Given the description of an element on the screen output the (x, y) to click on. 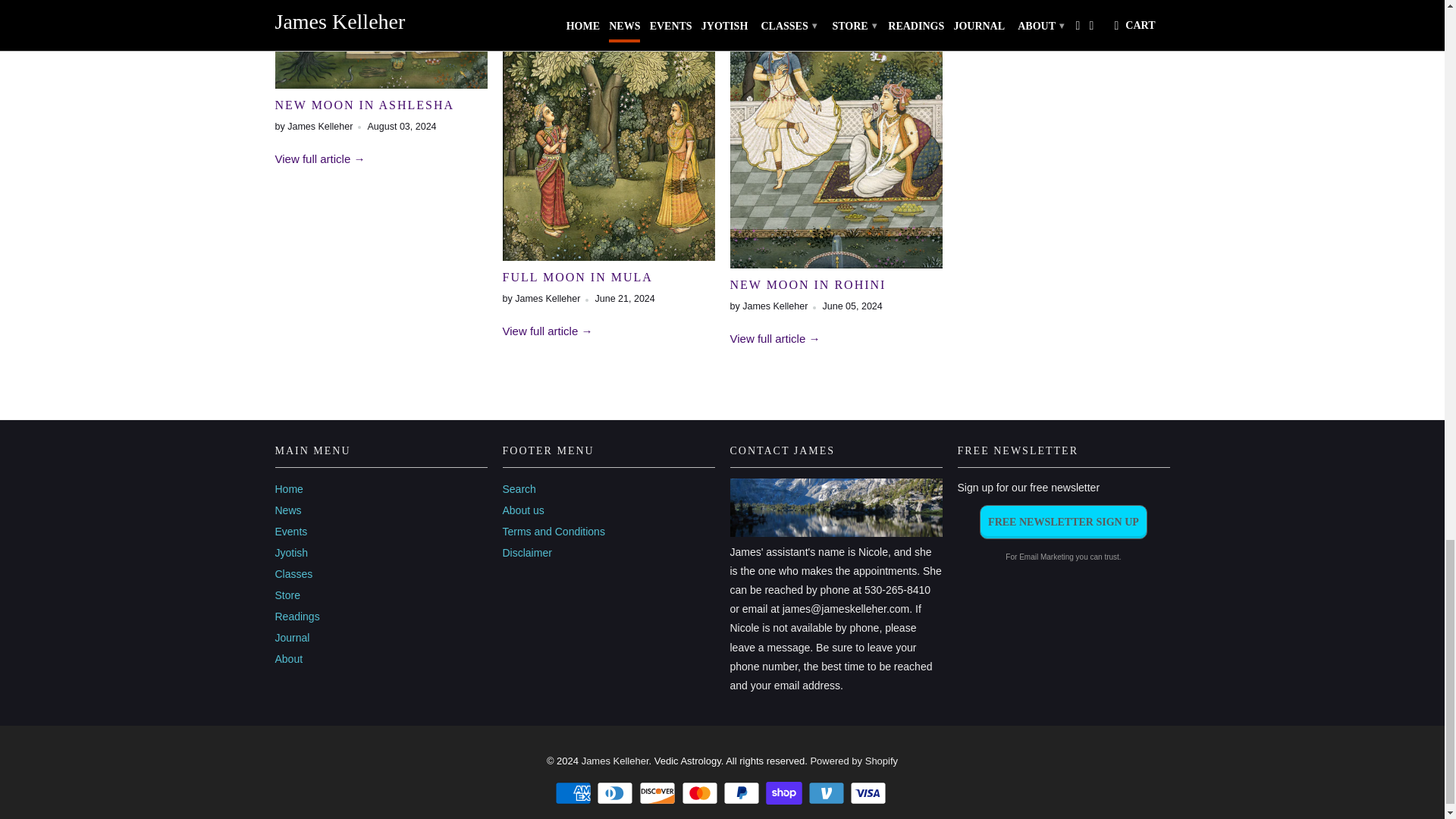
New Moon in Rohini (807, 284)
New Moon in Ashlesha (320, 158)
New Moon in Ashlesha (364, 104)
Full Moon in Mula (608, 256)
New Moon in Rohini (835, 264)
New Moon in Ashlesha (380, 83)
New Moon in Rohini (774, 338)
Full Moon in Mula (577, 277)
Full Moon in Mula (547, 330)
